Given the description of an element on the screen output the (x, y) to click on. 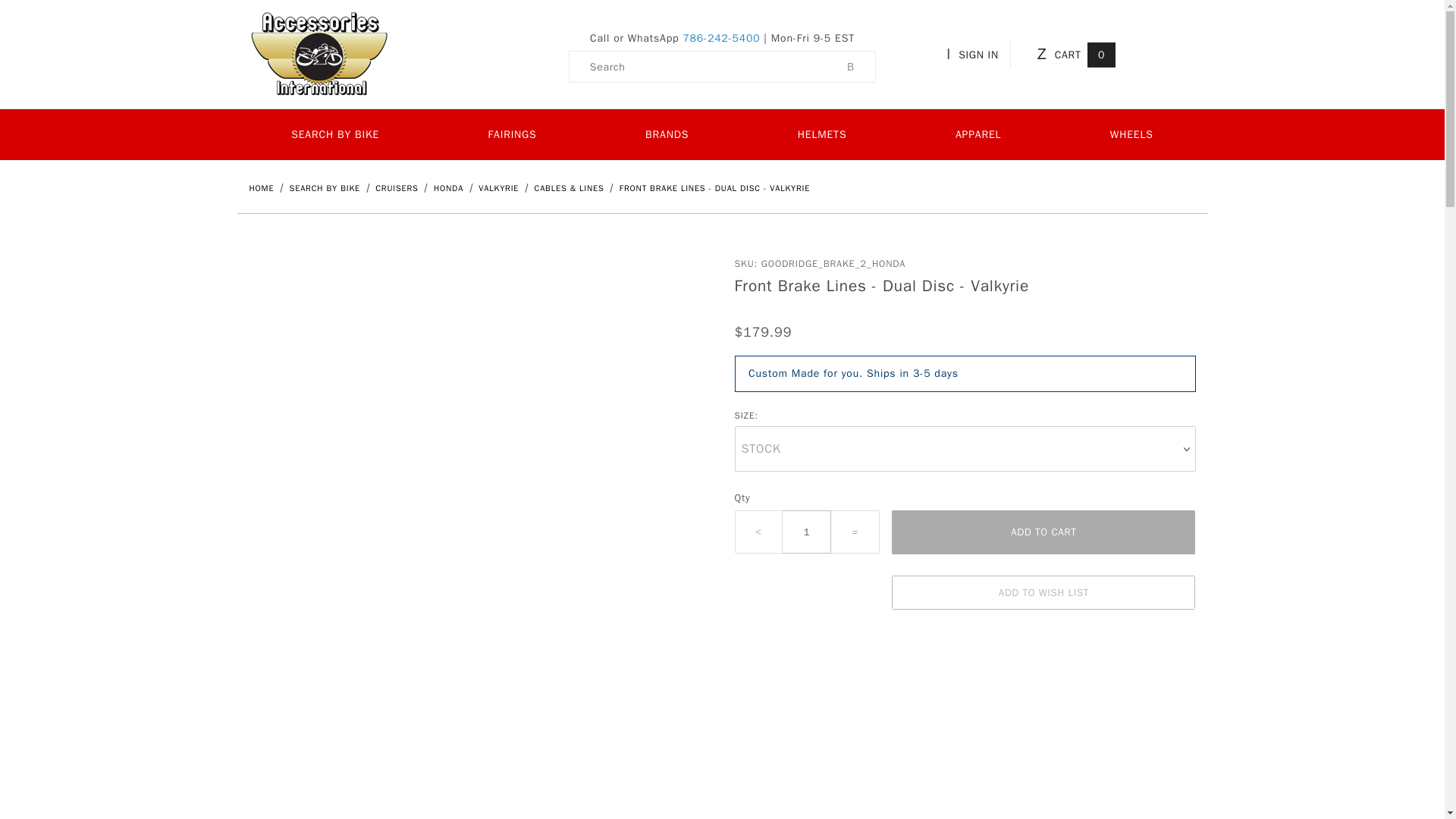
Add to Wish List (1043, 592)
VALKYRIE (500, 187)
Valkyrie (500, 187)
Add to Wish List (1043, 592)
Add To Cart (1043, 532)
Search by Bike (326, 187)
WHEELS (1131, 134)
SEARCH BY BIKE (326, 187)
786-242-5400 (721, 38)
